Given the description of an element on the screen output the (x, y) to click on. 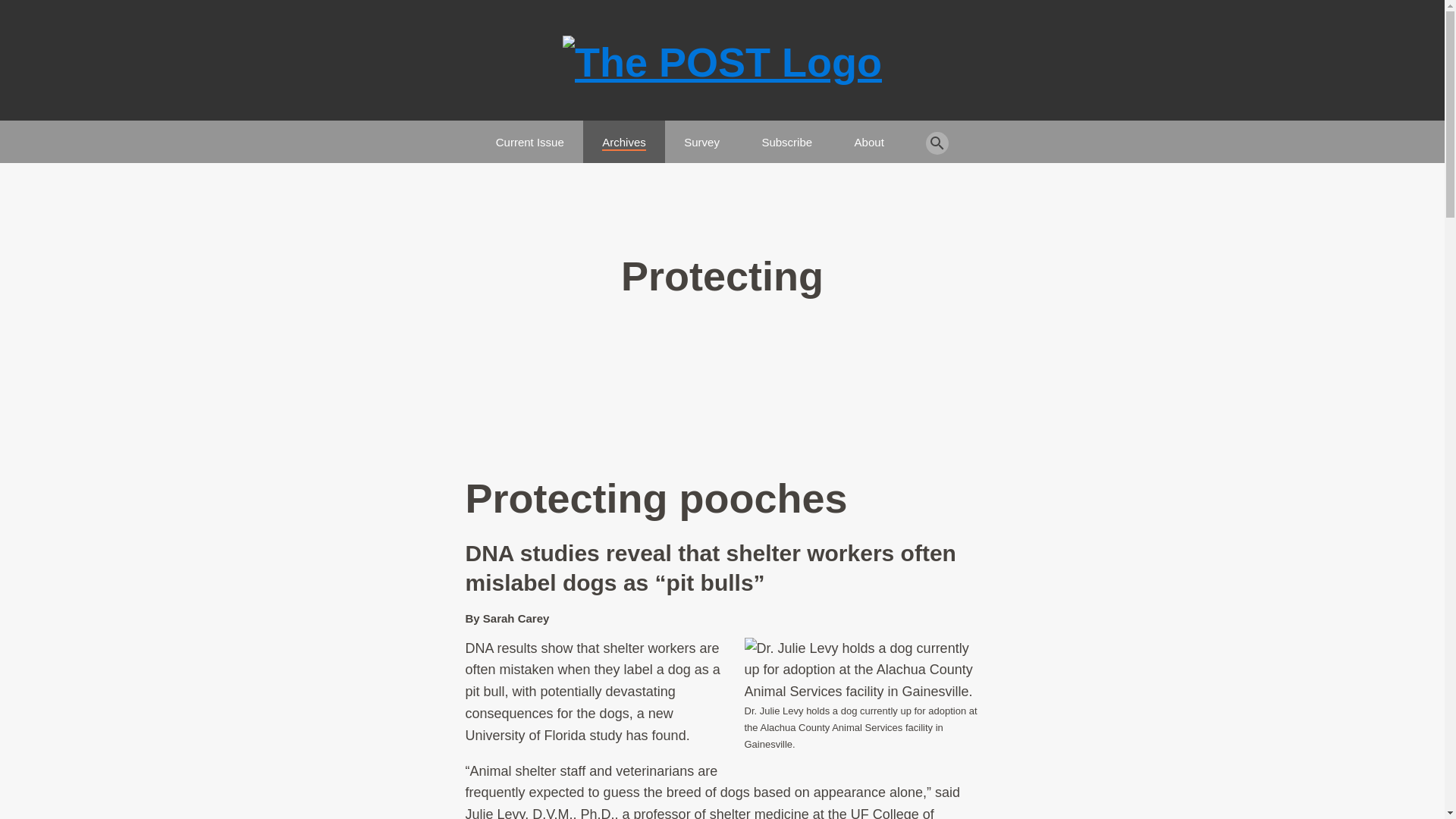
Current Issue (530, 135)
Survey (701, 135)
Subscribe (786, 135)
The POST - Home (722, 62)
About (868, 135)
Archives (624, 135)
